Given the description of an element on the screen output the (x, y) to click on. 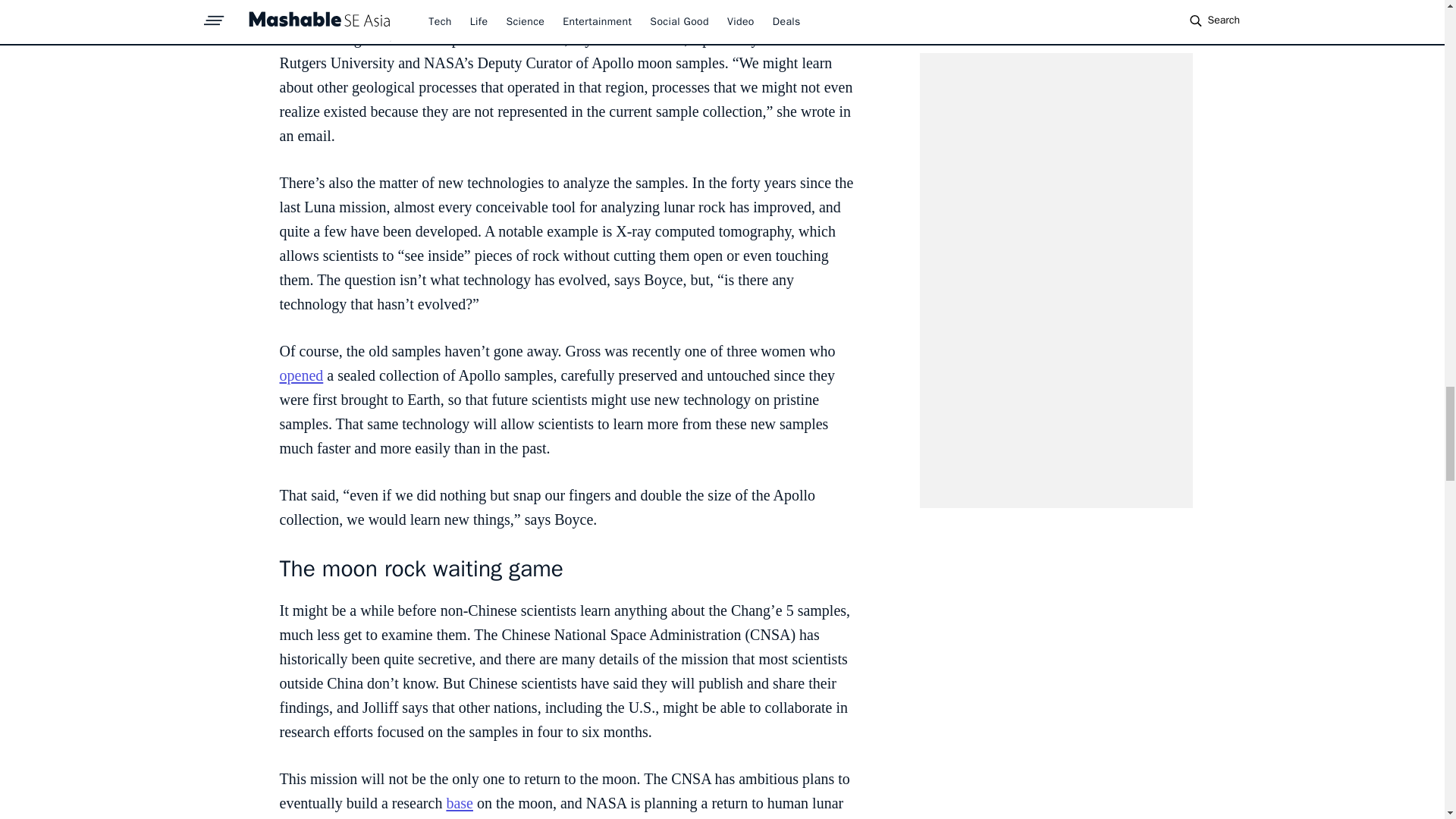
opened (301, 375)
base (459, 802)
